Given the description of an element on the screen output the (x, y) to click on. 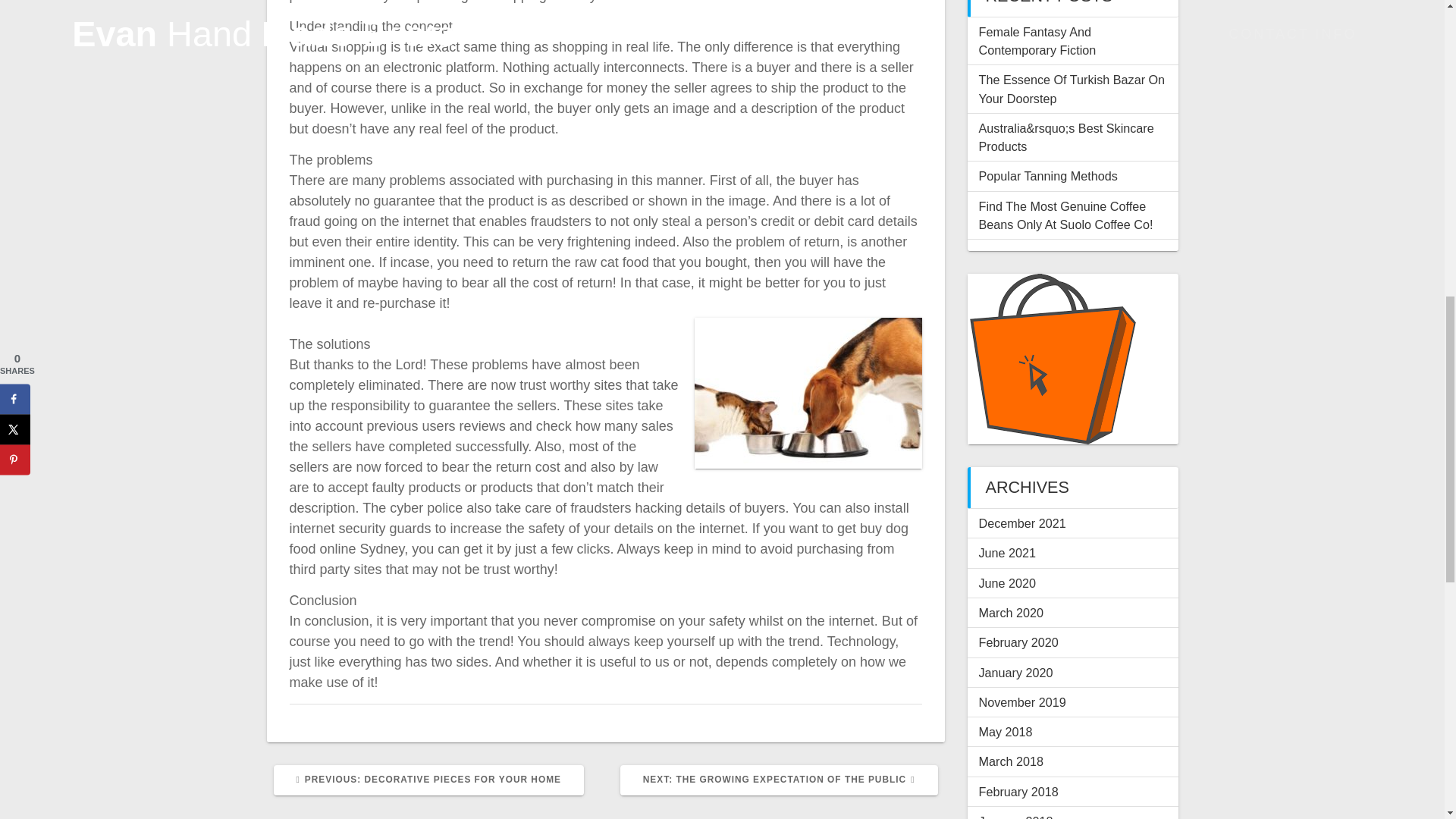
Female Fantasy And Contemporary Fiction (1037, 40)
June 2021 (1006, 552)
January 2020 (1015, 672)
Find The Most Genuine Coffee Beans Only At Suolo Coffee Co! (1065, 214)
March 2018 (1010, 761)
March 2020 (778, 779)
Popular Tanning Methods (1010, 612)
January 2018 (1047, 175)
June 2020 (428, 779)
February 2020 (1015, 816)
February 2018 (1006, 582)
The Essence Of Turkish Bazar On Your Doorstep (1018, 642)
November 2019 (1018, 791)
